Given the description of an element on the screen output the (x, y) to click on. 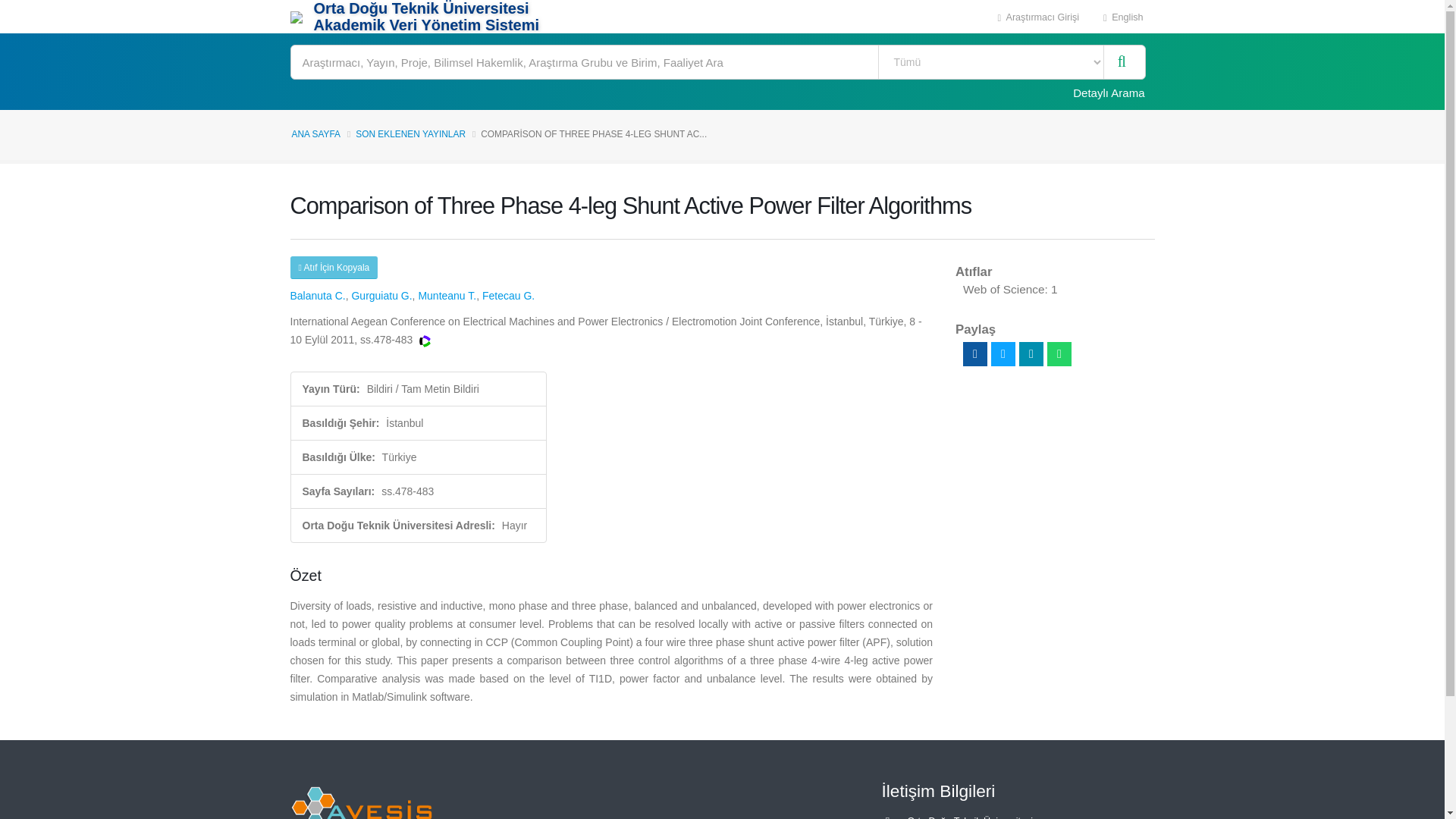
Ciprian Balanuta (317, 295)
Gurguiatu G. (381, 295)
Gelu Gurguiatu (381, 295)
Toader Munteanu (446, 295)
Munteanu T. (446, 295)
SON EKLENEN YAYINLAR (410, 133)
ANA SAYFA (315, 133)
Fetecau G. (507, 295)
Balanuta C. (317, 295)
English (1123, 17)
